Given the description of an element on the screen output the (x, y) to click on. 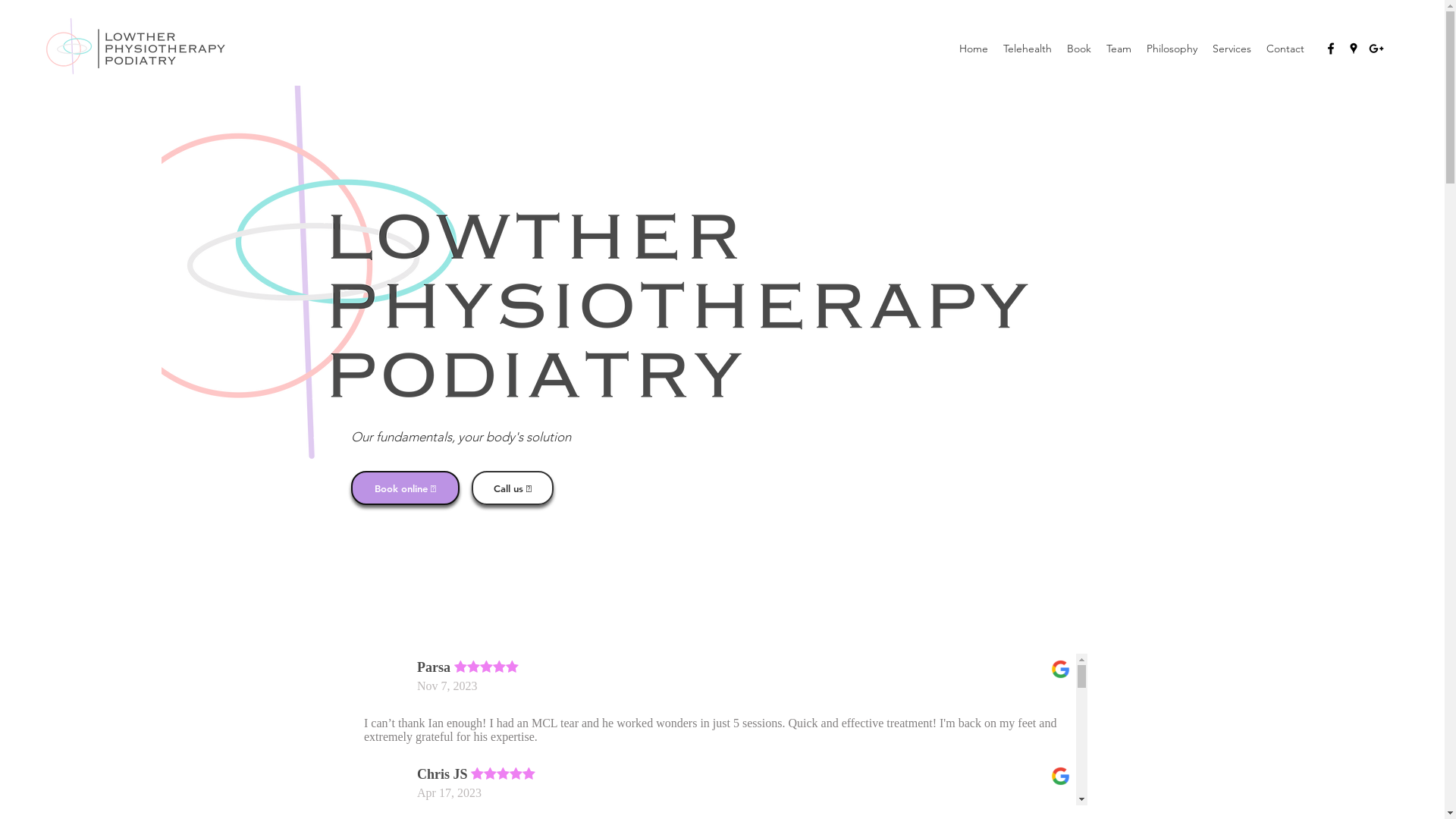
Contact Element type: text (1284, 48)
Team Element type: text (1118, 48)
Services Element type: text (1231, 48)
LPP Hopf symbol.png Element type: hover (599, 239)
Telehealth Element type: text (1027, 48)
Embedded Content Element type: hover (722, 729)
Book Element type: text (1078, 48)
Philosophy Element type: text (1171, 48)
Home Element type: text (973, 48)
